Given the description of an element on the screen output the (x, y) to click on. 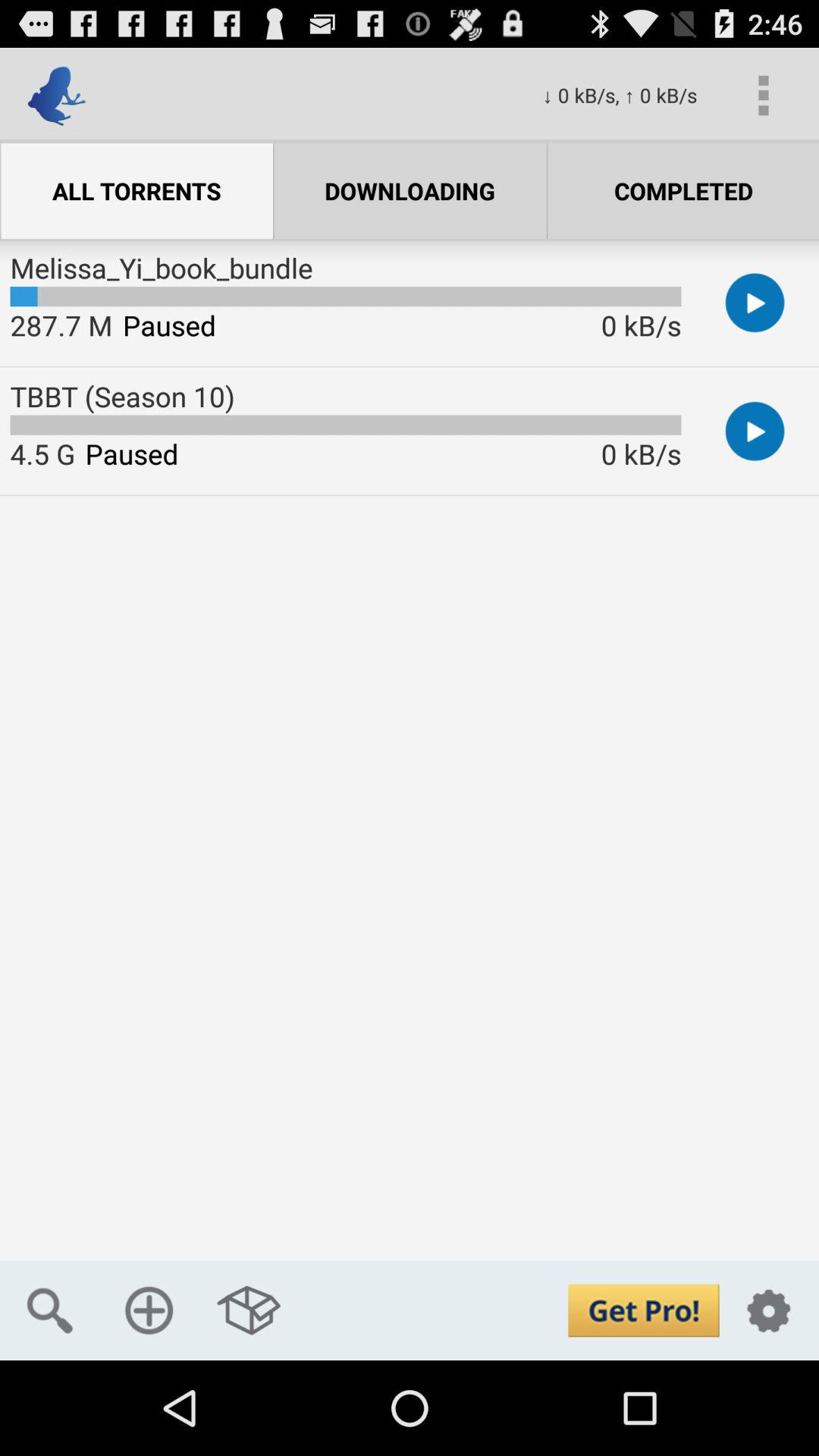
play tbbt season 10 (755, 430)
